Given the description of an element on the screen output the (x, y) to click on. 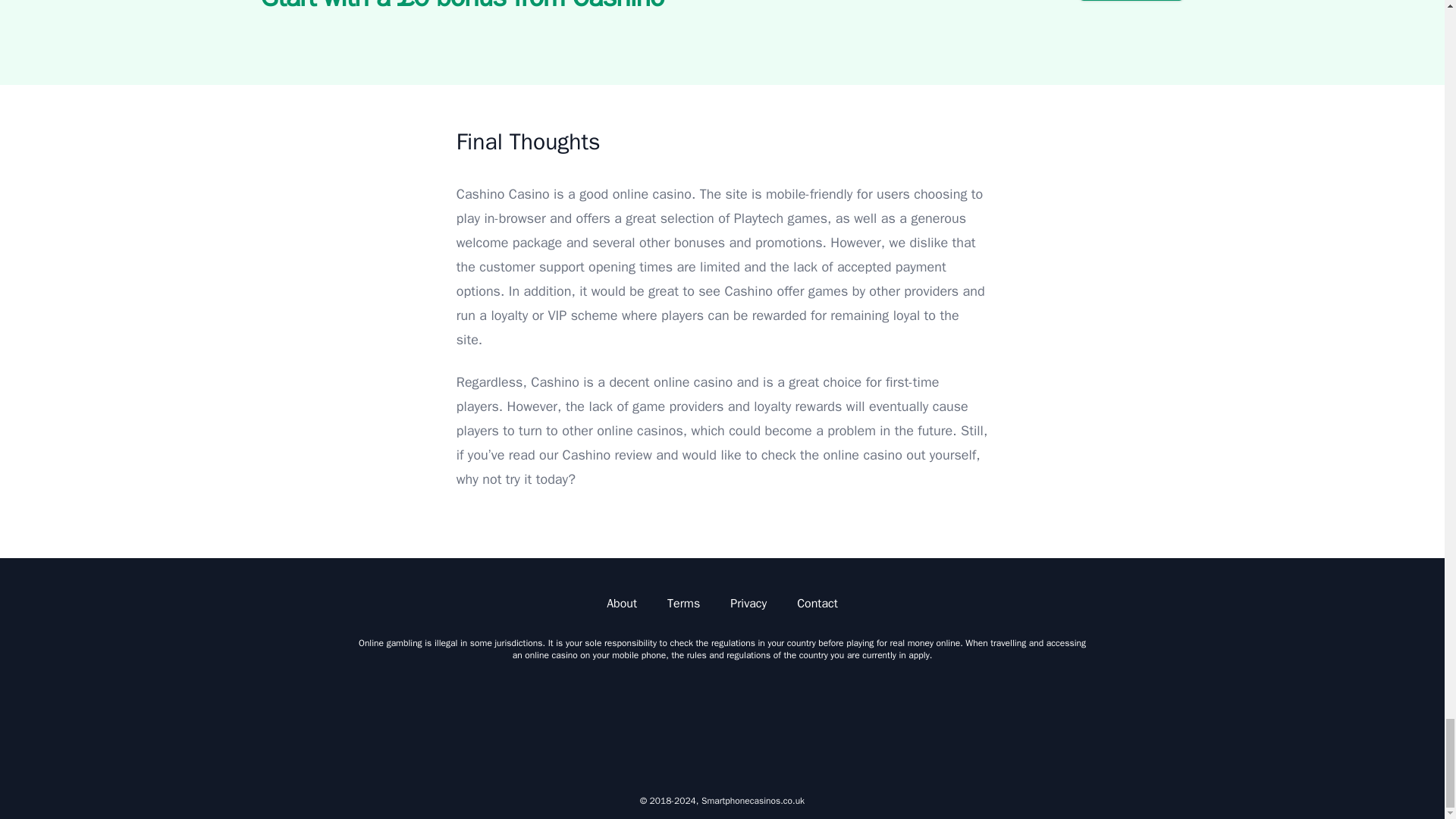
GamCare Logo (863, 721)
eCogra Logo (1003, 721)
Gambling Commission Logo (581, 721)
BeGambleAware Logo (721, 721)
